Given the description of an element on the screen output the (x, y) to click on. 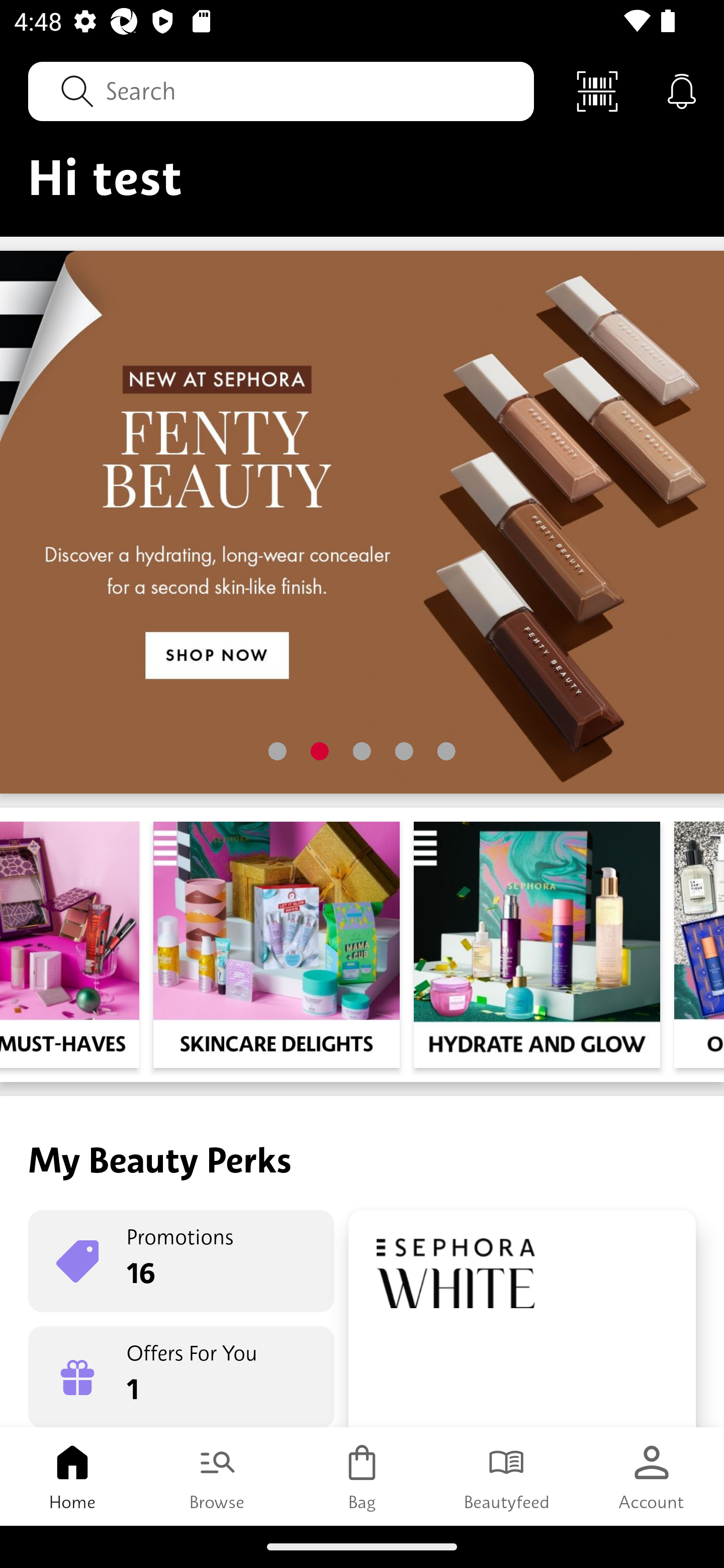
Scan Code (597, 90)
Notifications (681, 90)
Search (281, 90)
Promotions 16 (181, 1261)
Rewards Boutique 90 Pts (521, 1318)
Offers For You 1 (181, 1376)
Browse (216, 1475)
Bag (361, 1475)
Beautyfeed (506, 1475)
Account (651, 1475)
